Given the description of an element on the screen output the (x, y) to click on. 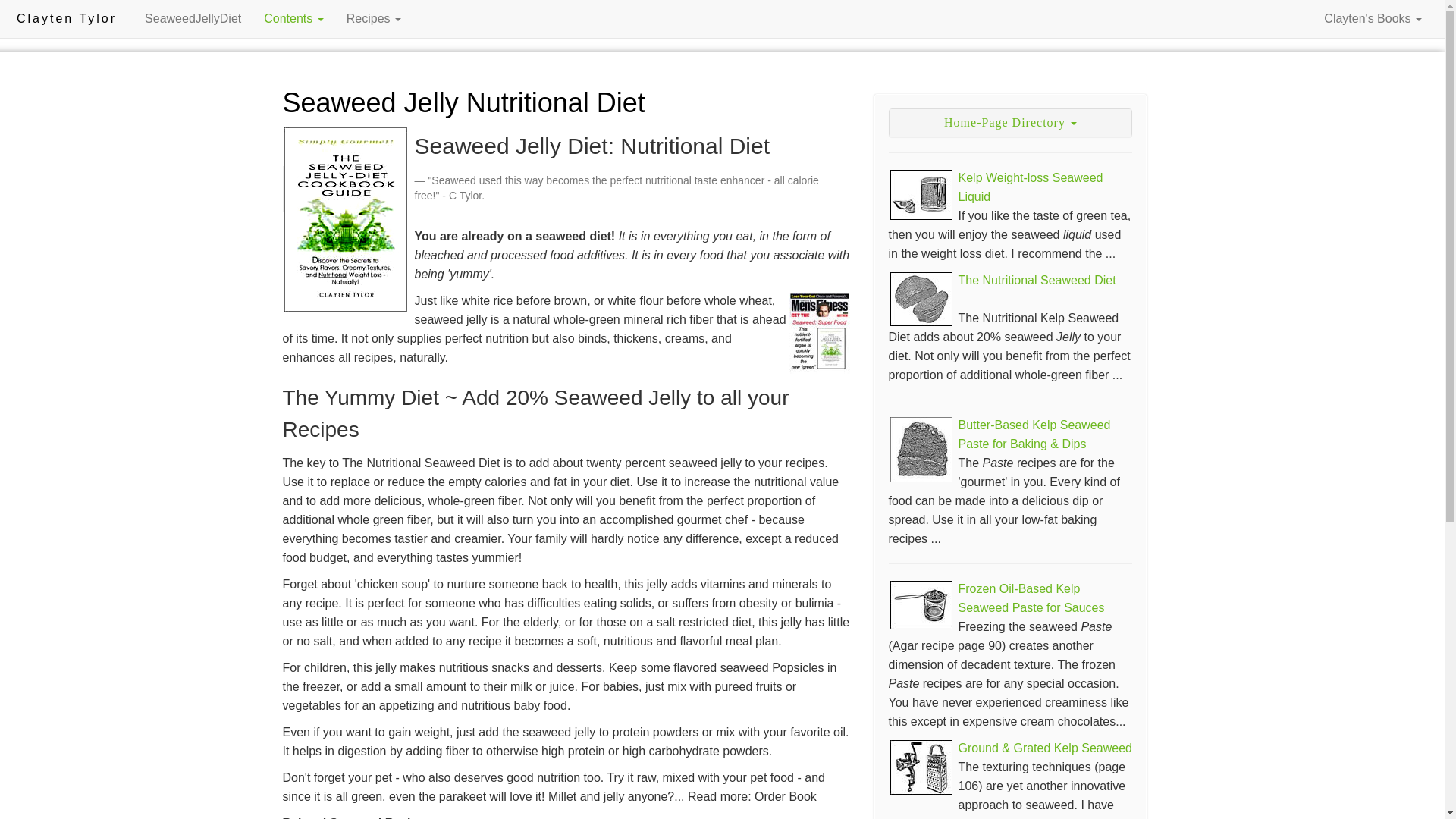
Clayten's Books (1372, 18)
SeaweedJellyDiet (192, 18)
Recipes (373, 18)
Clayten Tylor (66, 18)
Contents (292, 18)
